Given the description of an element on the screen output the (x, y) to click on. 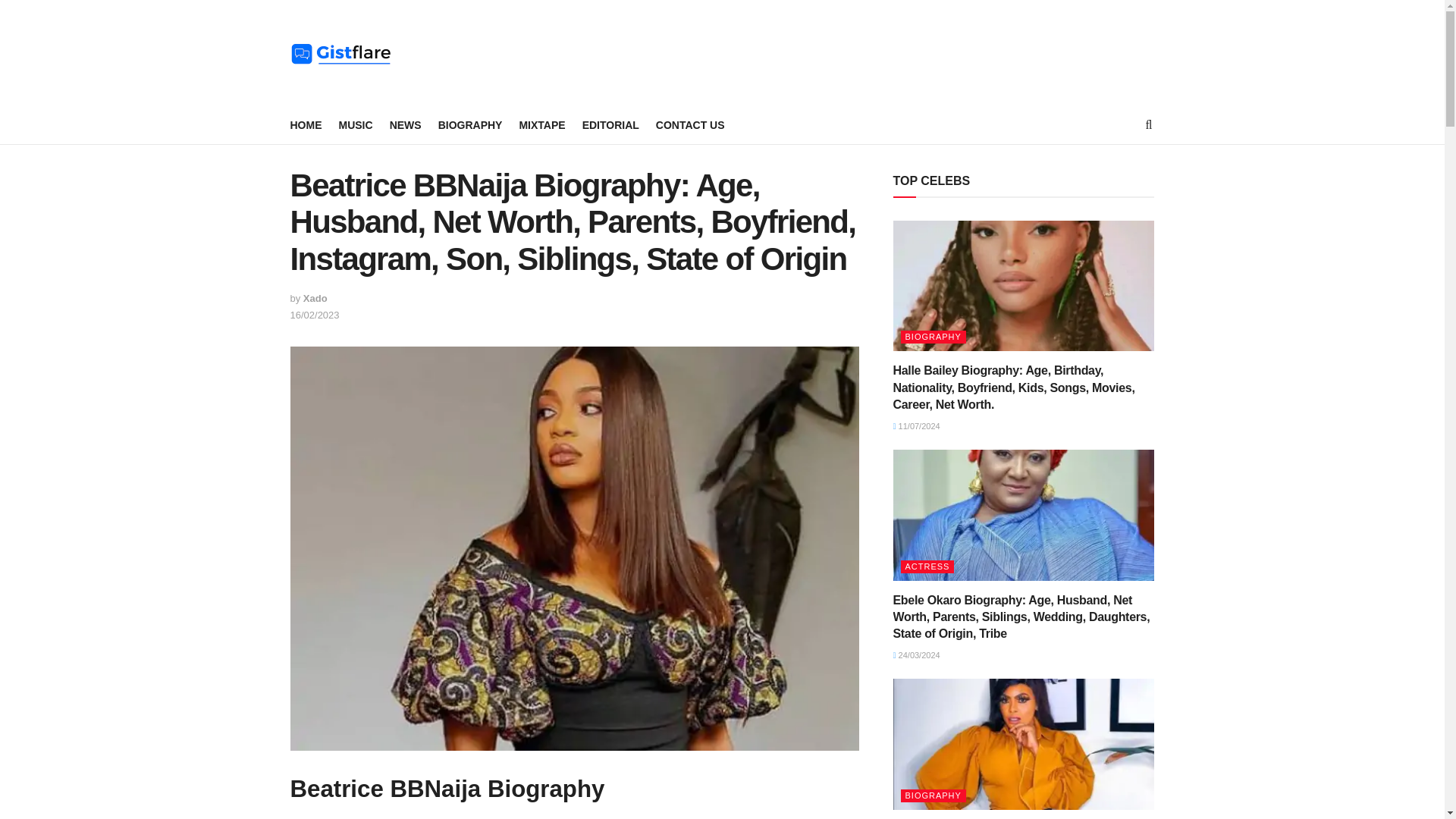
NEWS (406, 124)
MIXTAPE (541, 124)
EDITORIAL (610, 124)
MUSIC (354, 124)
CONTACT US (690, 124)
BIOGRAPHY (470, 124)
HOME (305, 124)
